Given the description of an element on the screen output the (x, y) to click on. 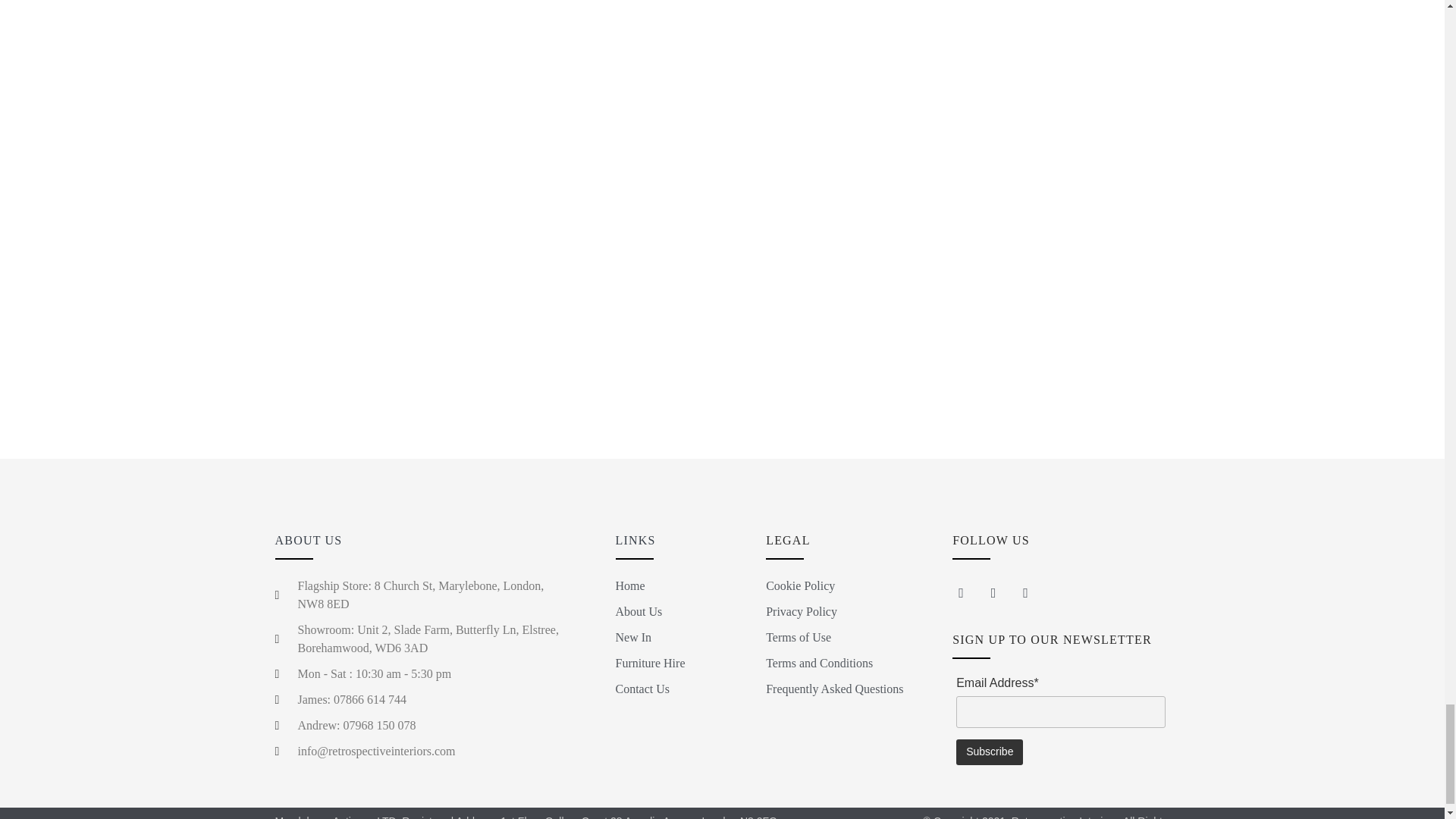
Subscribe (989, 751)
